Given the description of an element on the screen output the (x, y) to click on. 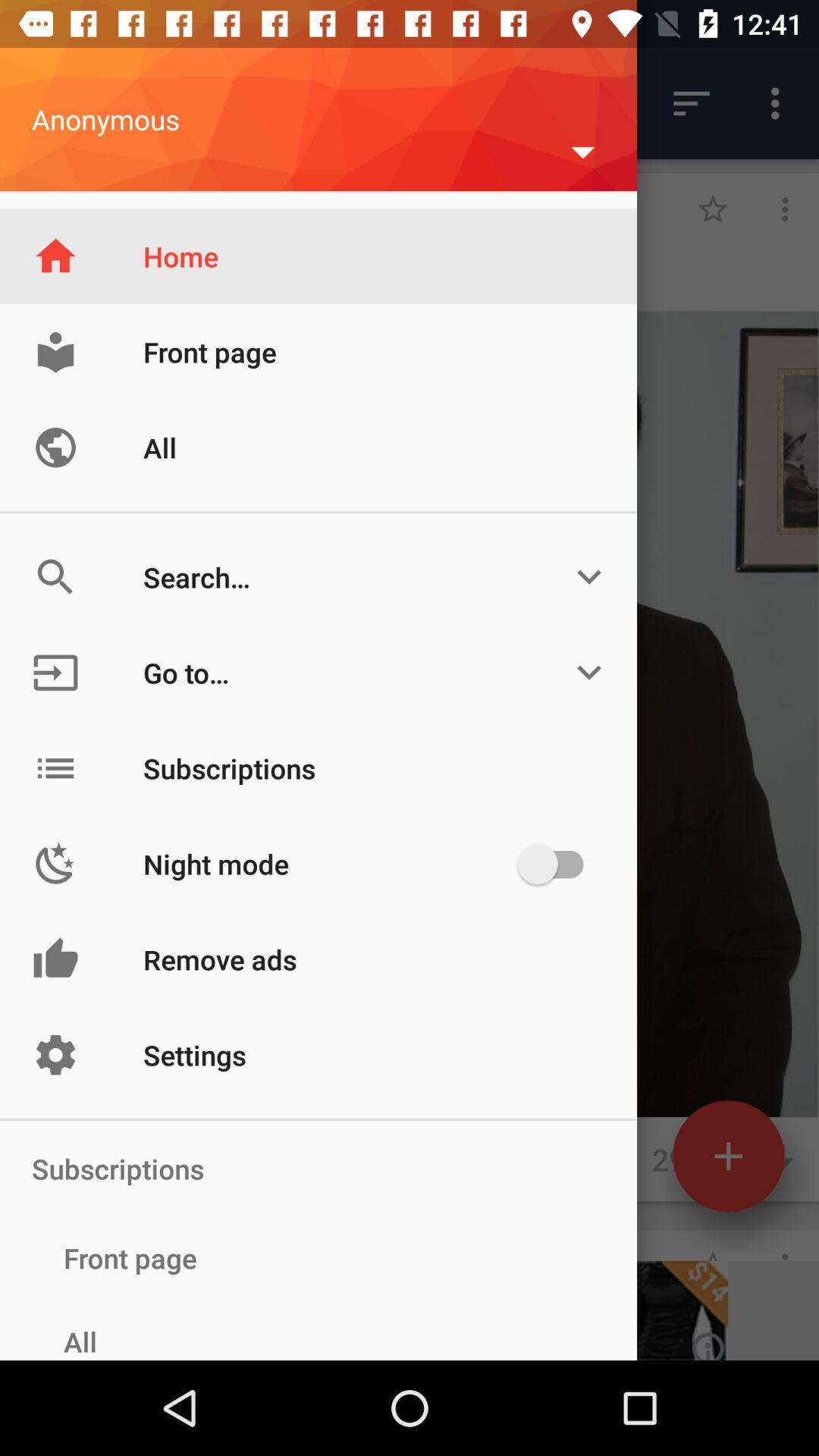
click the three dots button on the top right corner of the web page (779, 103)
